Given the description of an element on the screen output the (x, y) to click on. 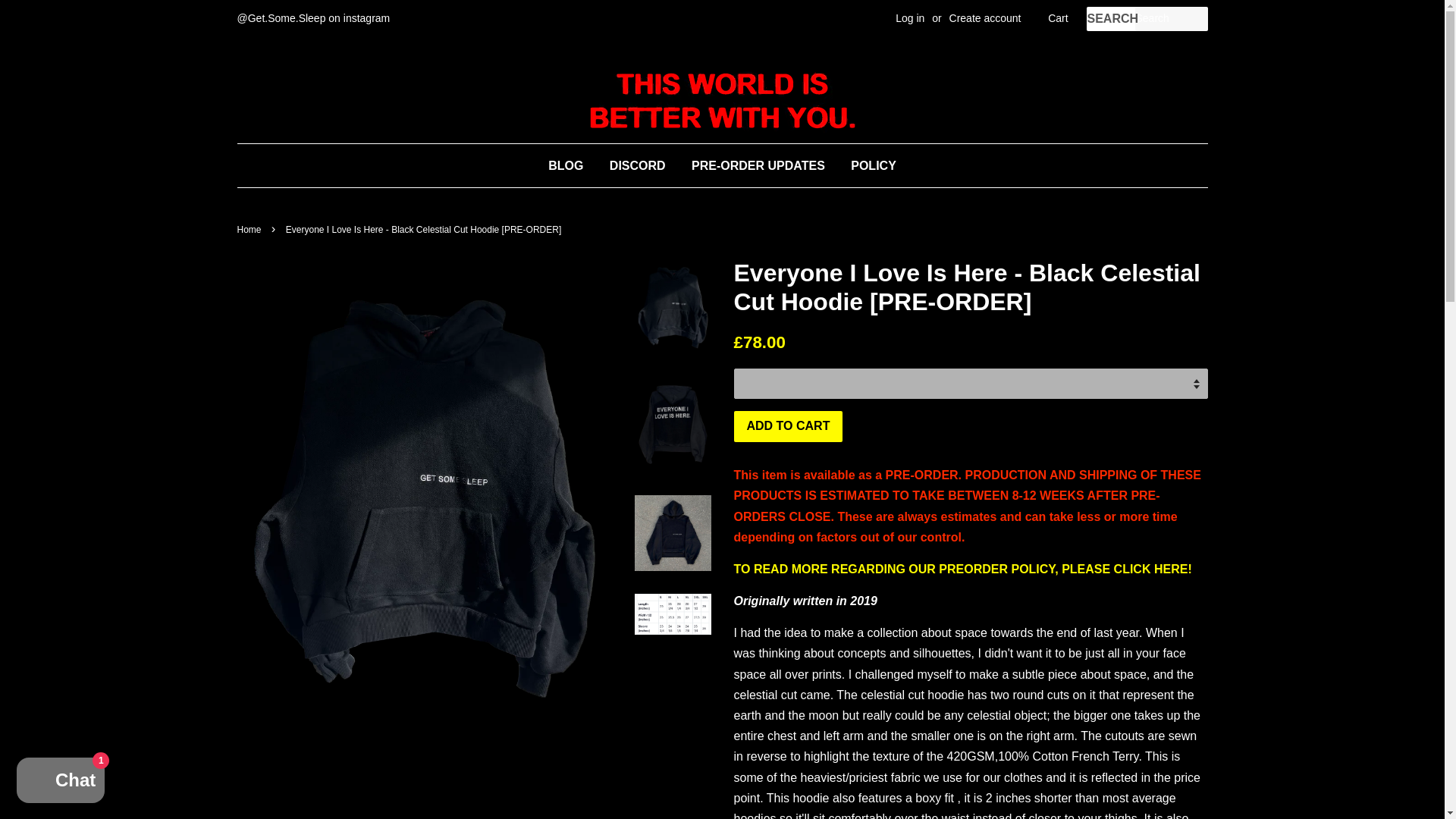
DISCORD (637, 165)
Back to the frontpage (249, 229)
SEARCH (1110, 18)
Log in (909, 18)
Cart (1057, 18)
Home (249, 229)
PRE-ORDER UPDATES (757, 165)
ADD TO CART (788, 426)
Create account (985, 18)
BLOG (571, 165)
POLICY (868, 165)
Shopify online store chat (60, 781)
